Given the description of an element on the screen output the (x, y) to click on. 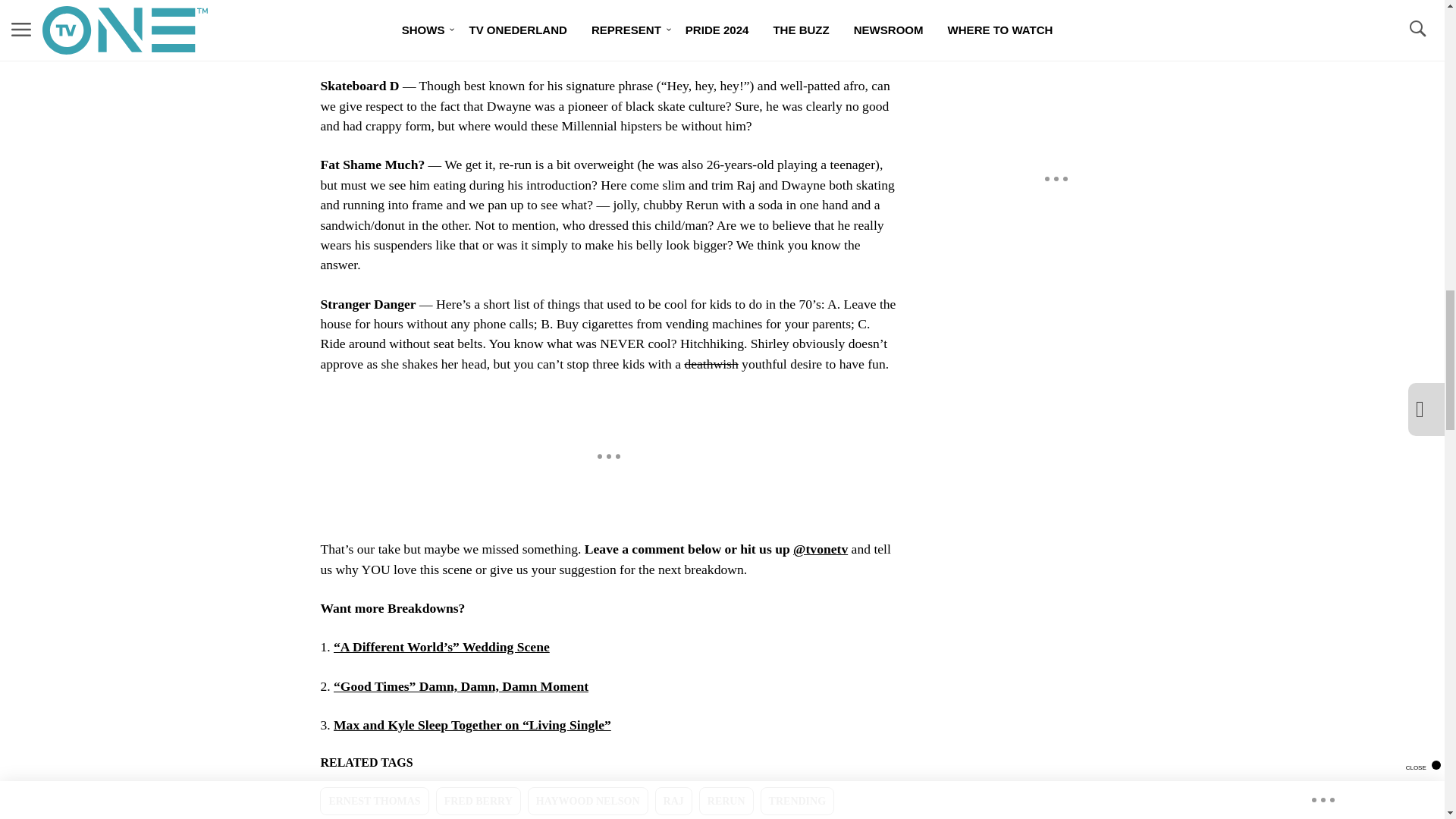
FRED BERRY (478, 800)
RERUN (726, 800)
HAYWOOD NELSON (587, 800)
ERNEST THOMAS (374, 800)
RAJ (674, 800)
TRENDING (797, 800)
